Given the description of an element on the screen output the (x, y) to click on. 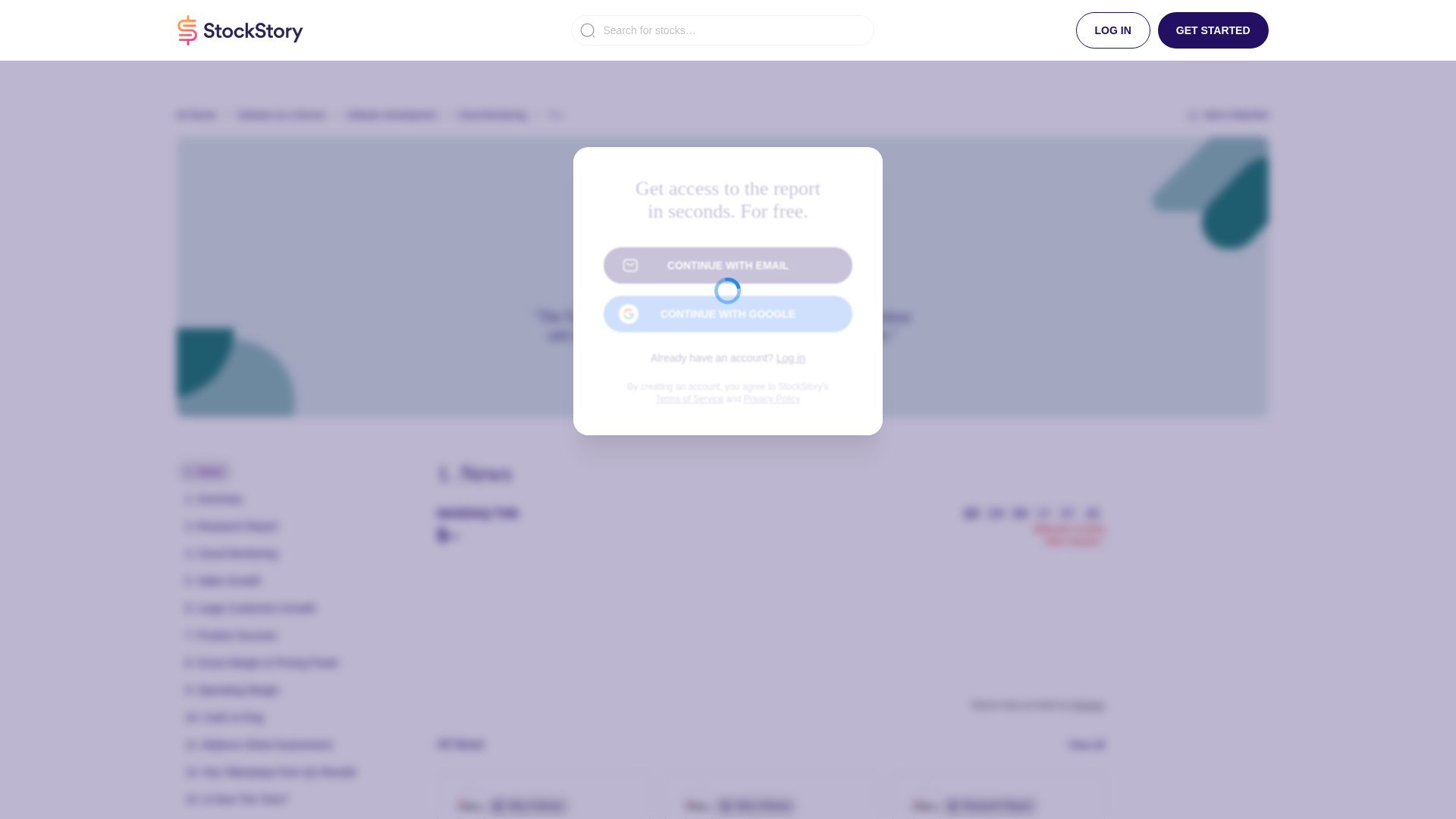
Software as a Service (281, 114)
LOG IN (1112, 30)
12. Key Takeaways from Q1 Results (270, 771)
9. Operating Margin (232, 689)
Polygon (1087, 705)
Add to Watchlist (1226, 115)
All Stocks (195, 114)
Log in (997, 795)
1. News (790, 357)
